Given the description of an element on the screen output the (x, y) to click on. 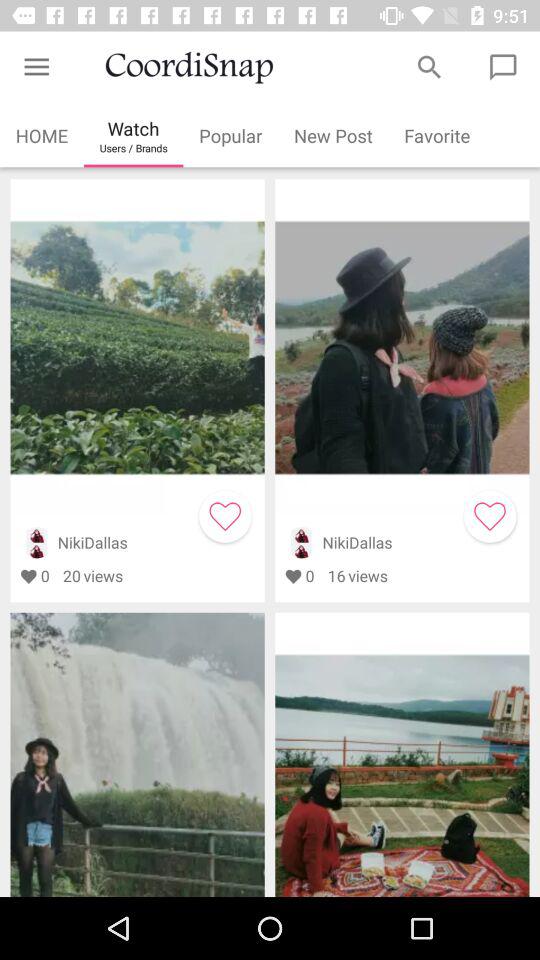
mark as favorite (225, 516)
